Given the description of an element on the screen output the (x, y) to click on. 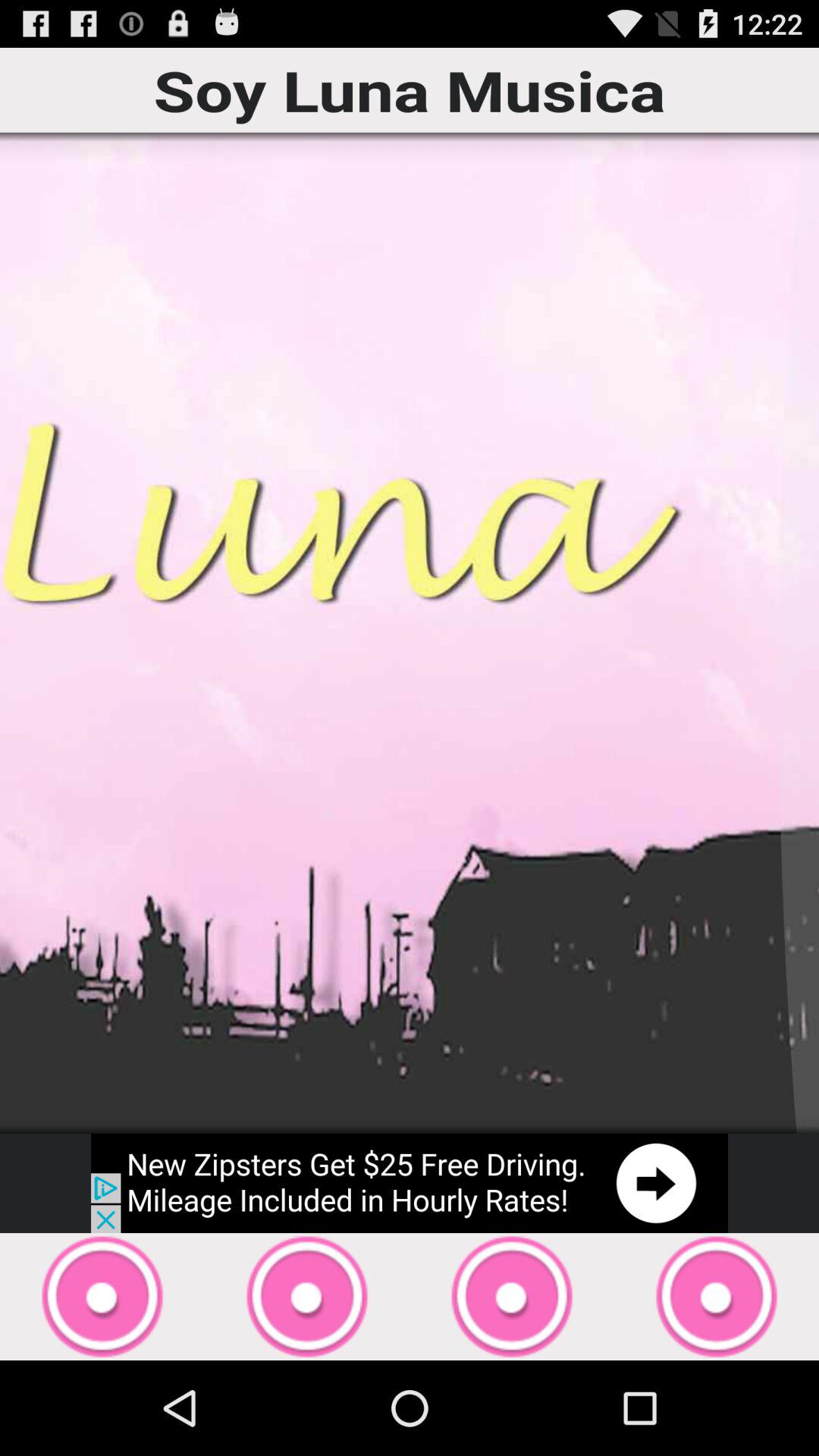
open advertisement (409, 1183)
